Given the description of an element on the screen output the (x, y) to click on. 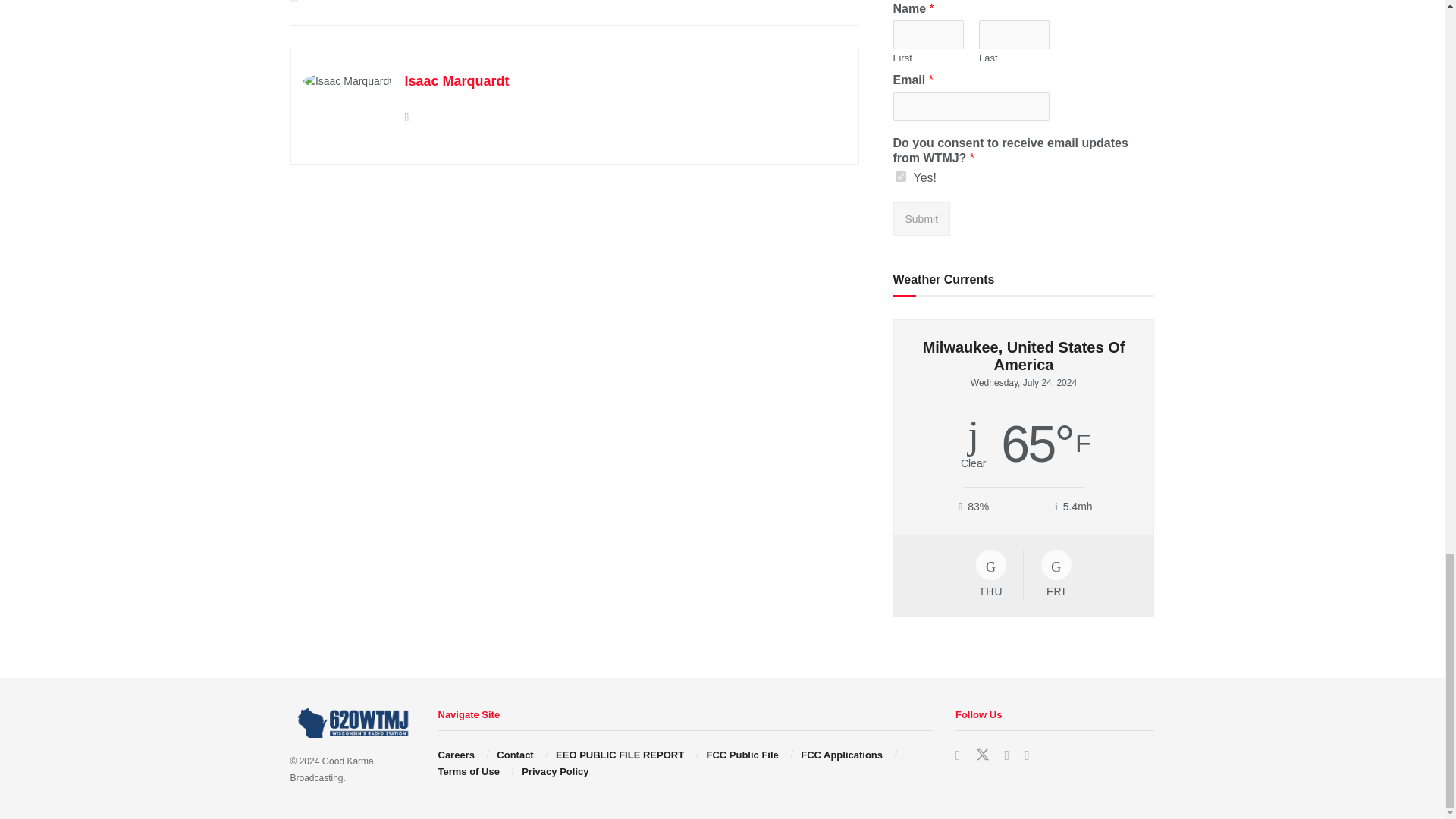
Yes! (900, 176)
